Given the description of an element on the screen output the (x, y) to click on. 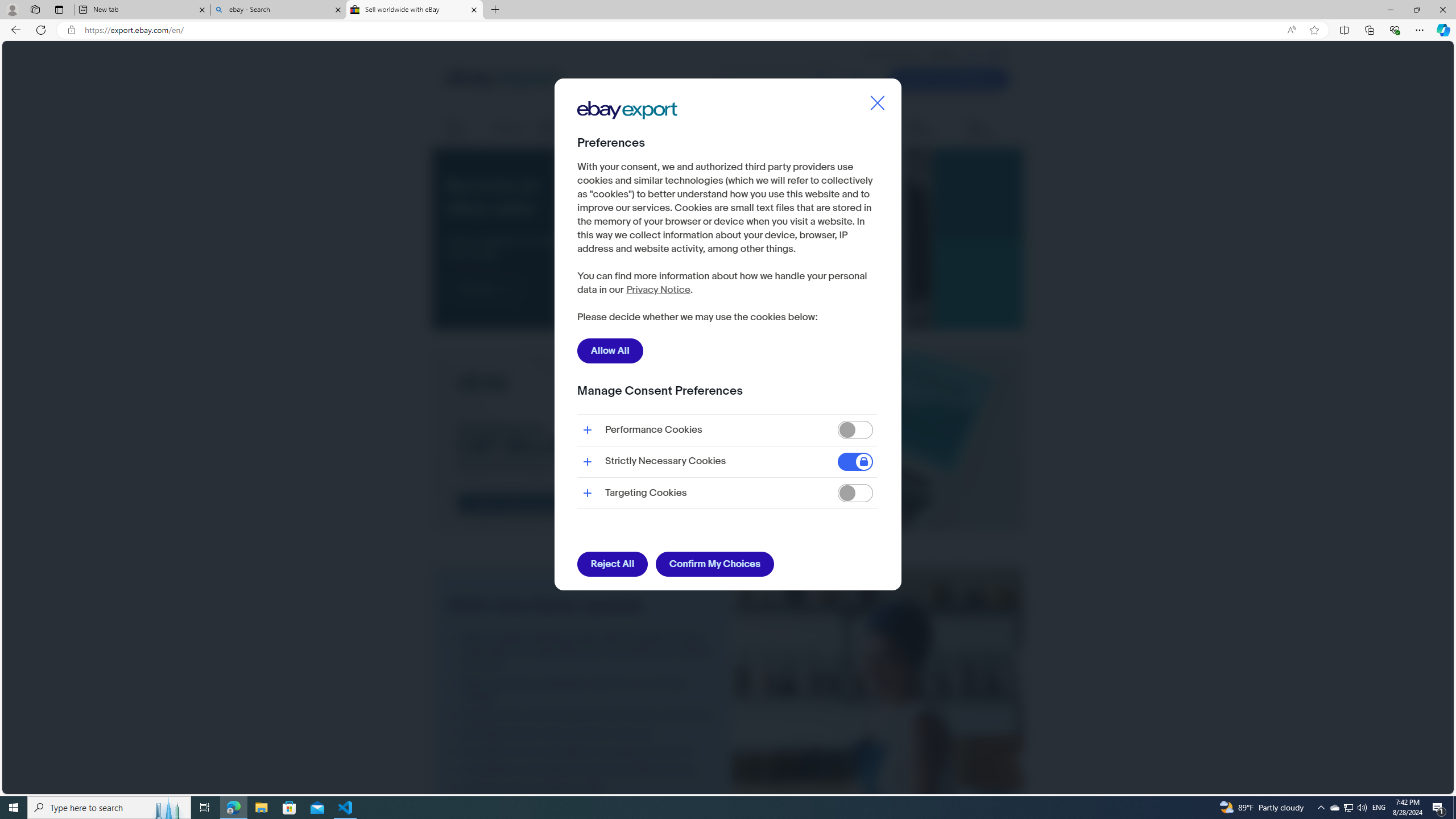
IN (972, 53)
First steps (462, 128)
Decline all (766, 317)
Strictly Necessary Cookies Always Active (726, 461)
Customise my choices (645, 317)
Privacy Notice (658, 290)
Marketing (874, 127)
here (631, 284)
Empower your advertising with more metrics and control (582, 715)
